Given the description of an element on the screen output the (x, y) to click on. 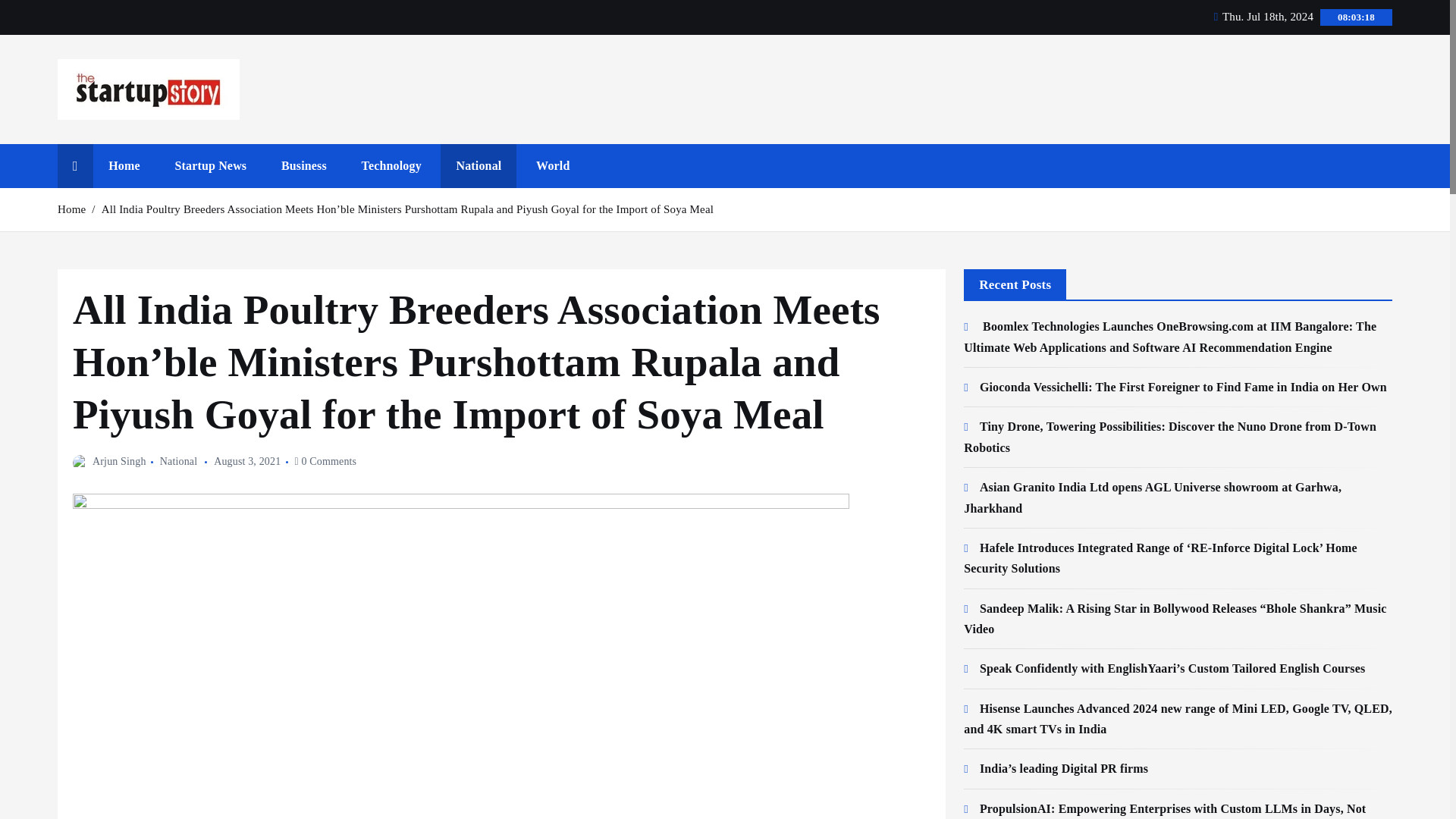
Technology (391, 166)
Business (304, 166)
Home (124, 166)
Startup News (210, 166)
Home (124, 166)
World (553, 166)
Business (304, 166)
National (478, 166)
World (553, 166)
National (478, 166)
Technology (391, 166)
Startup News (210, 166)
